Given the description of an element on the screen output the (x, y) to click on. 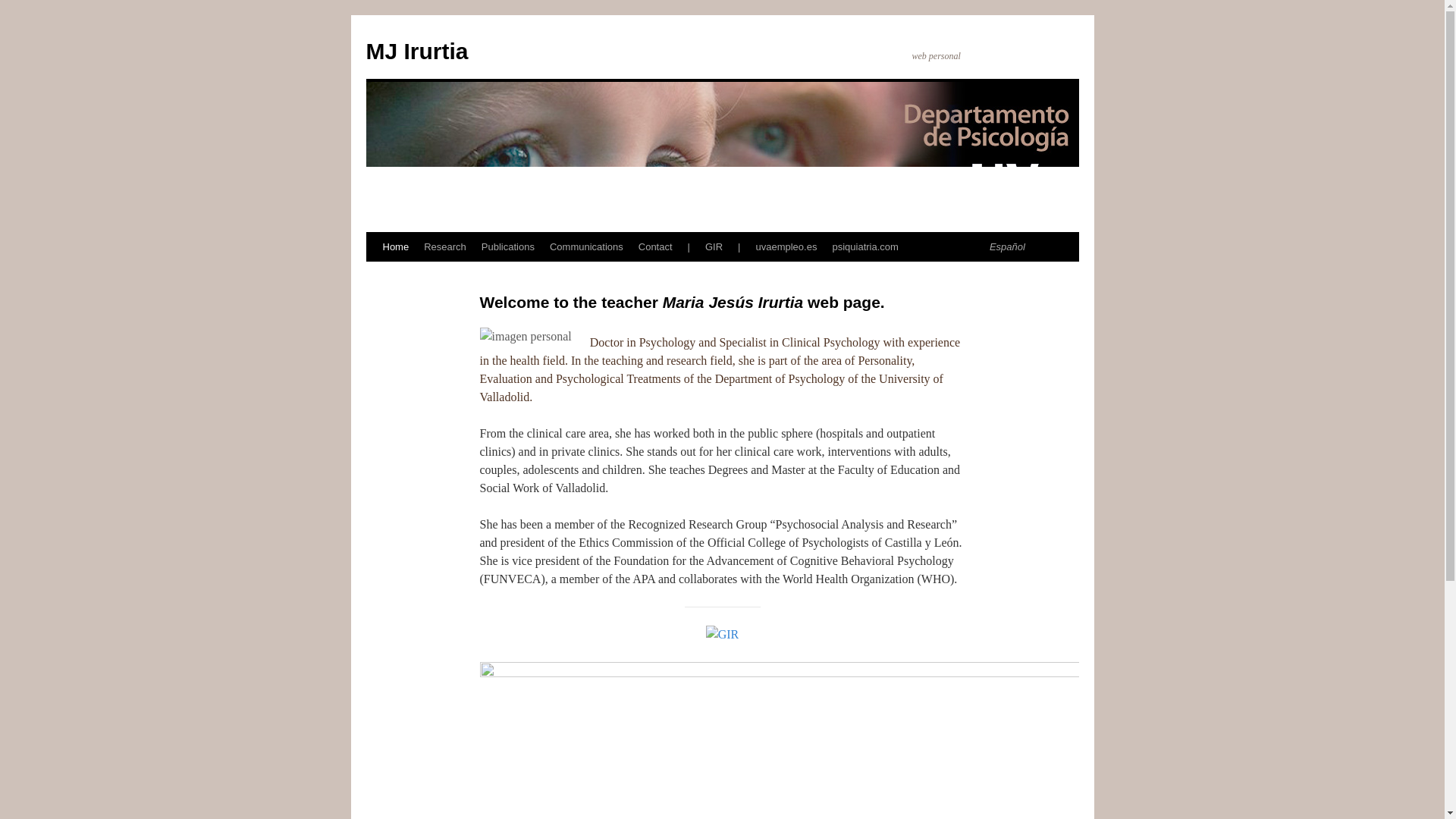
Communications (585, 246)
Skip to content (372, 274)
Research (445, 246)
Contact (654, 246)
Home (395, 246)
MJ Irurtia (416, 50)
uvaempleo.es (786, 246)
Publications (507, 246)
GIR (713, 246)
psiquiatria.com (864, 246)
